Given the description of an element on the screen output the (x, y) to click on. 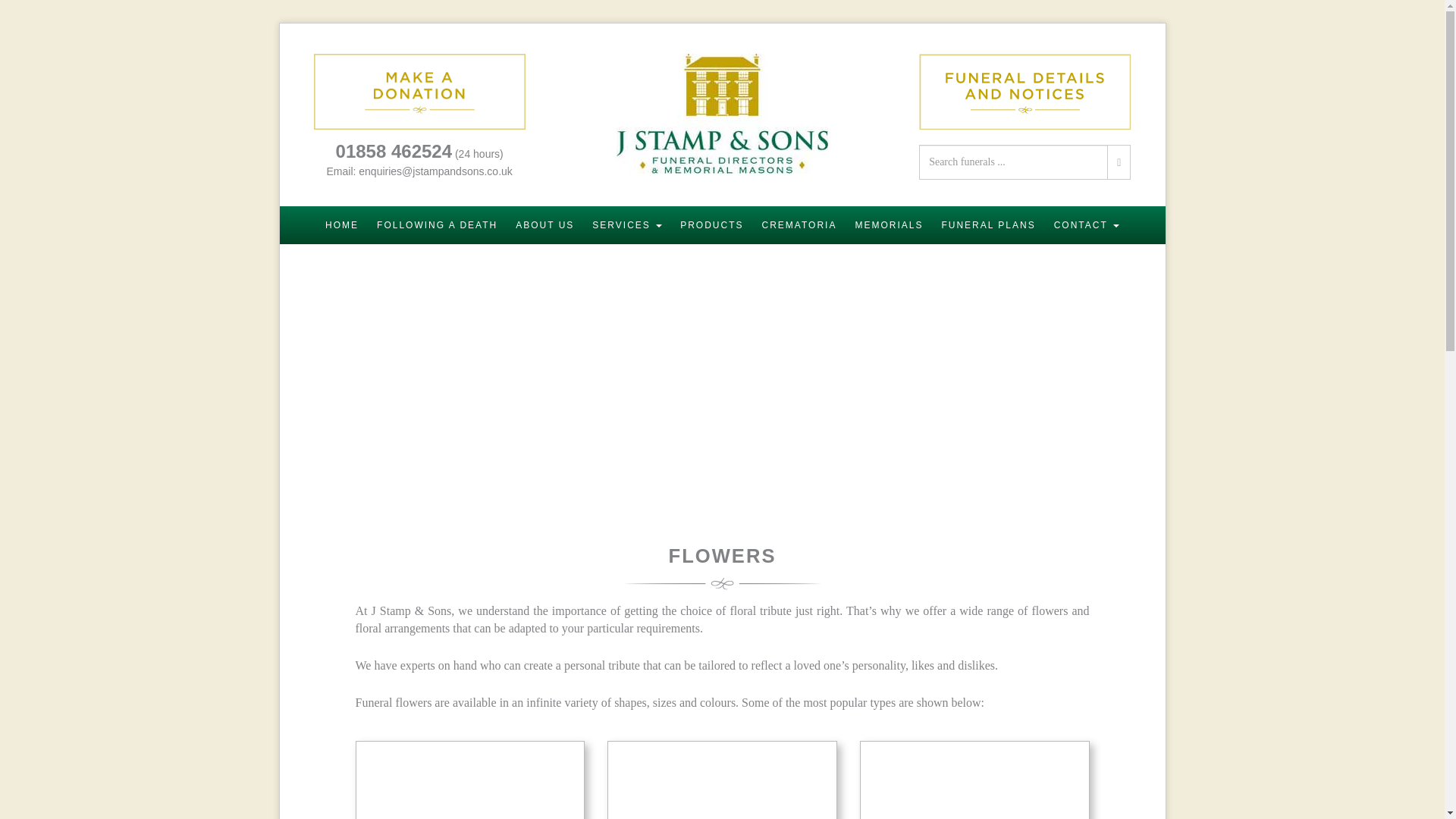
SERVICES (627, 225)
Search for: (1013, 161)
SERVICES (627, 225)
PRODUCTS (711, 225)
MEMORIALS (888, 225)
ABOUT US (544, 225)
CREMATORIA (798, 225)
FOLLOWING A DEATH (437, 225)
PRODUCTS (711, 225)
